Given the description of an element on the screen output the (x, y) to click on. 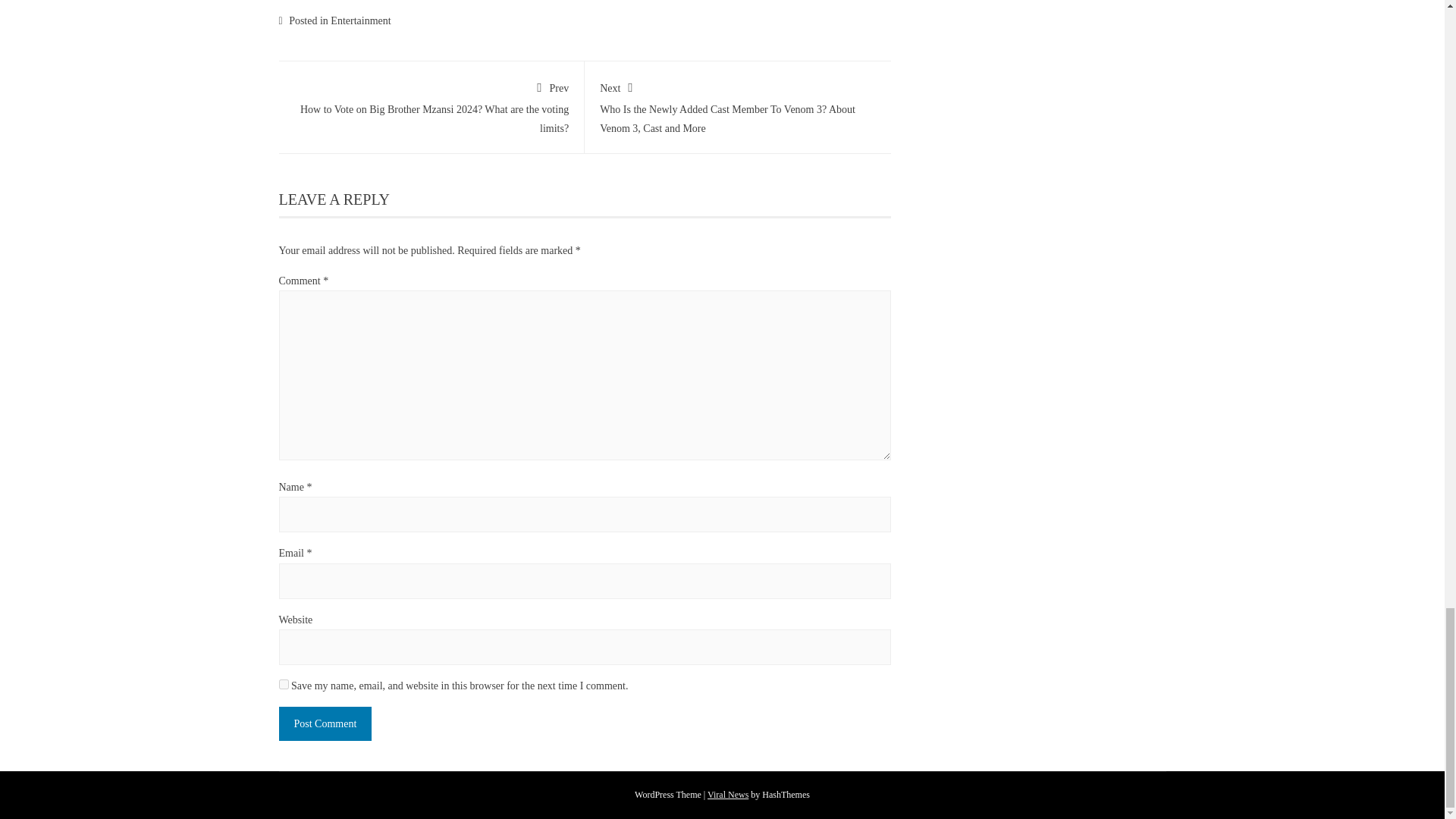
yes (283, 684)
Download Viral News (727, 794)
Post Comment (325, 723)
Post Comment (325, 723)
Entertainment (360, 20)
